Given the description of an element on the screen output the (x, y) to click on. 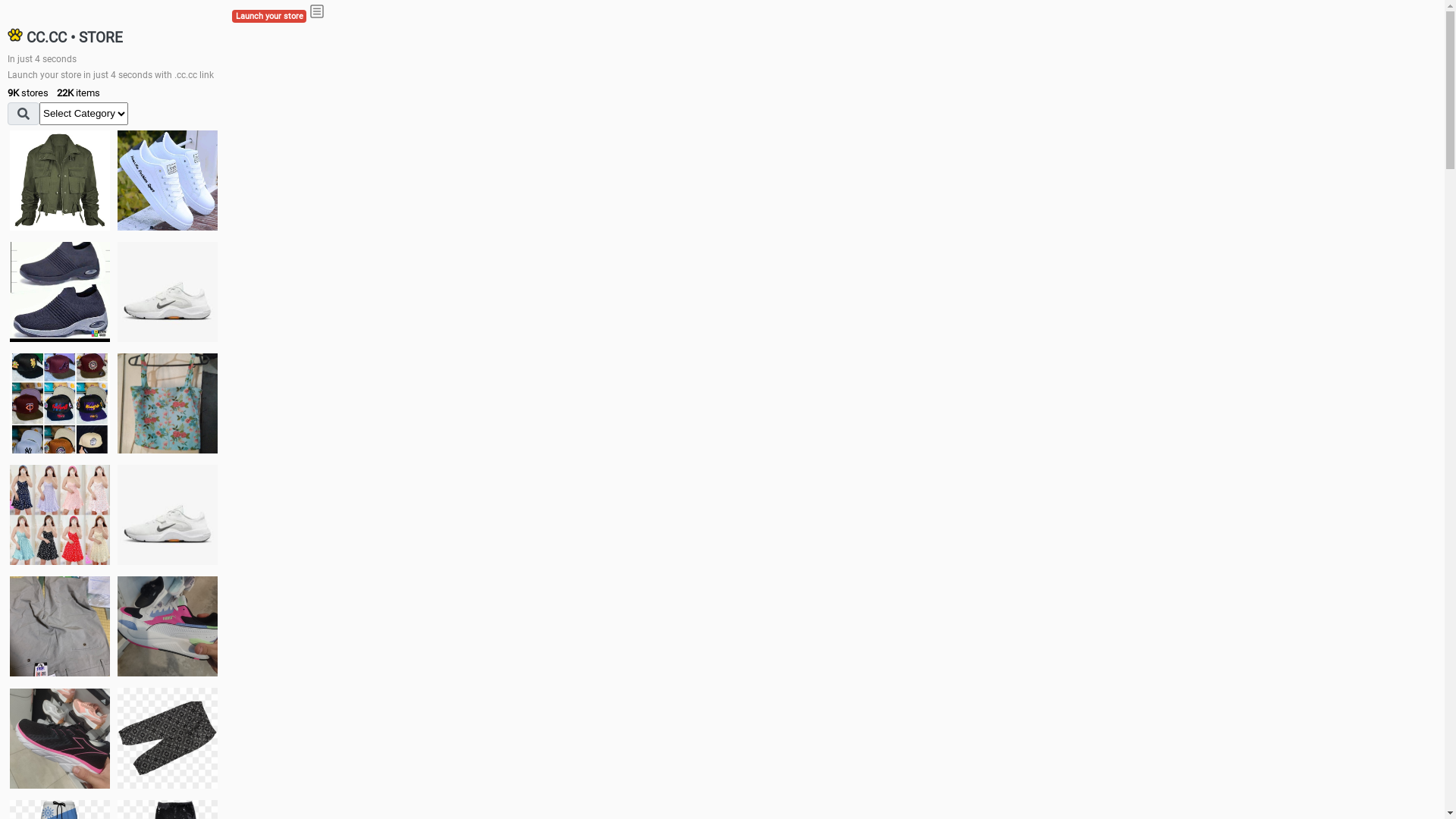
Zapatillas Element type: hover (59, 738)
white shoes Element type: hover (167, 180)
Dress/square nect top Element type: hover (59, 514)
Shoes Element type: hover (167, 514)
Ukay cloth Element type: hover (167, 403)
jacket Element type: hover (59, 180)
Shoes for boys Element type: hover (167, 291)
Things we need Element type: hover (59, 403)
Launch your store Element type: text (269, 15)
Zapatillas pumas Element type: hover (167, 626)
Short pant Element type: hover (167, 737)
shoes for boys Element type: hover (59, 291)
